Given the description of an element on the screen output the (x, y) to click on. 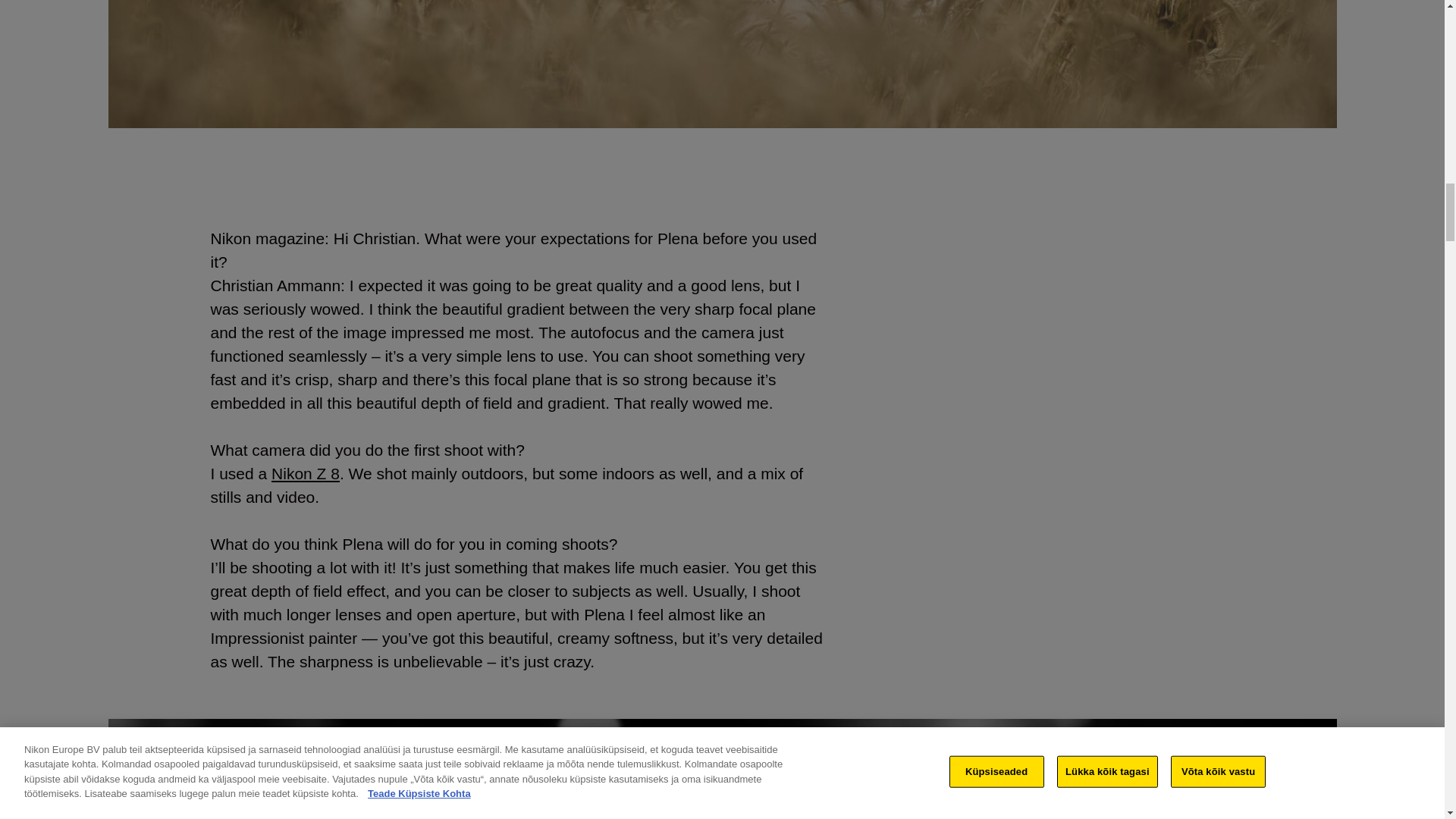
Nikon Z 8 (304, 473)
